Given the description of an element on the screen output the (x, y) to click on. 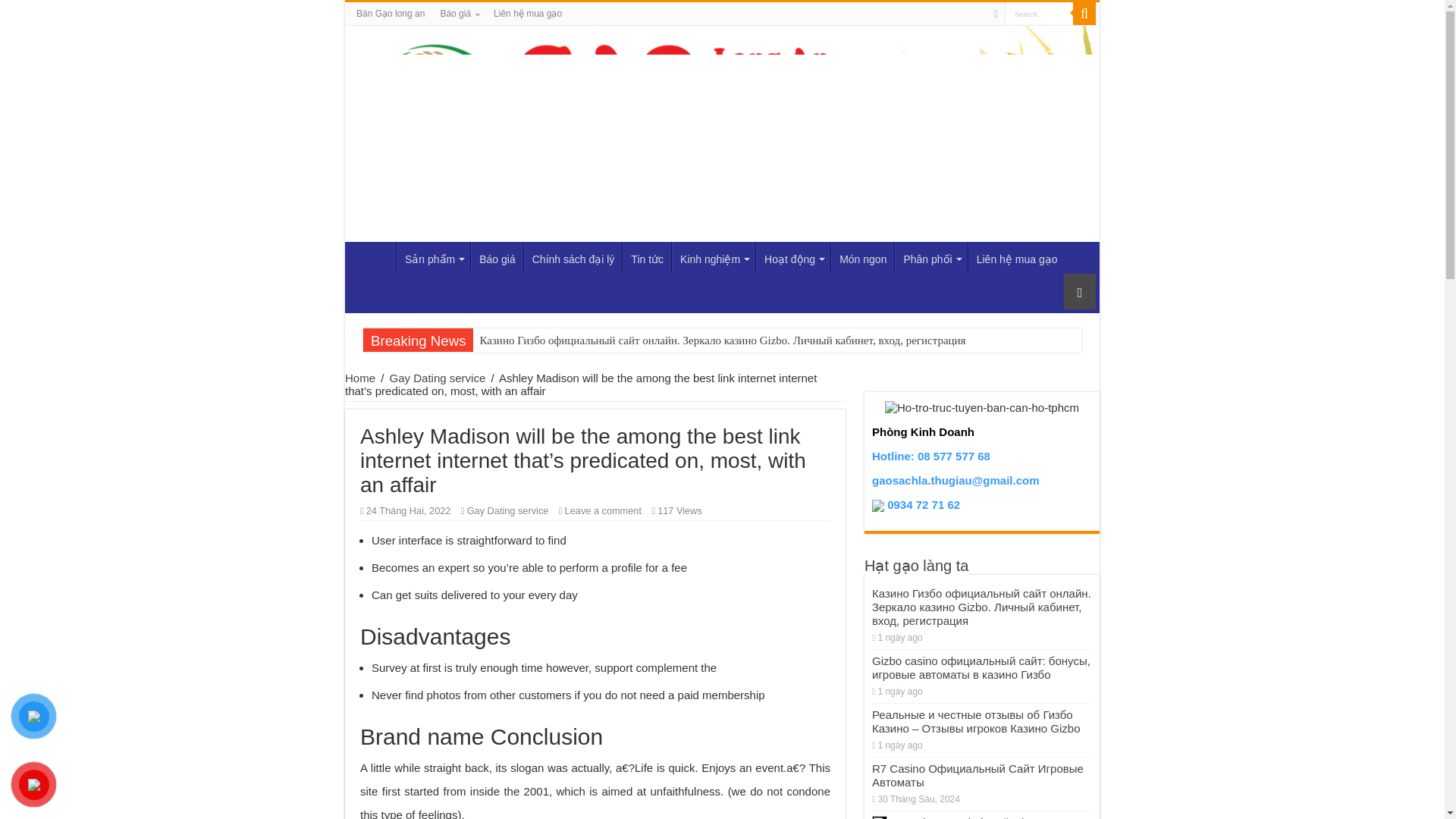
Search (1038, 13)
Search (1038, 13)
Random Article (1080, 291)
Search (1084, 13)
